Given the description of an element on the screen output the (x, y) to click on. 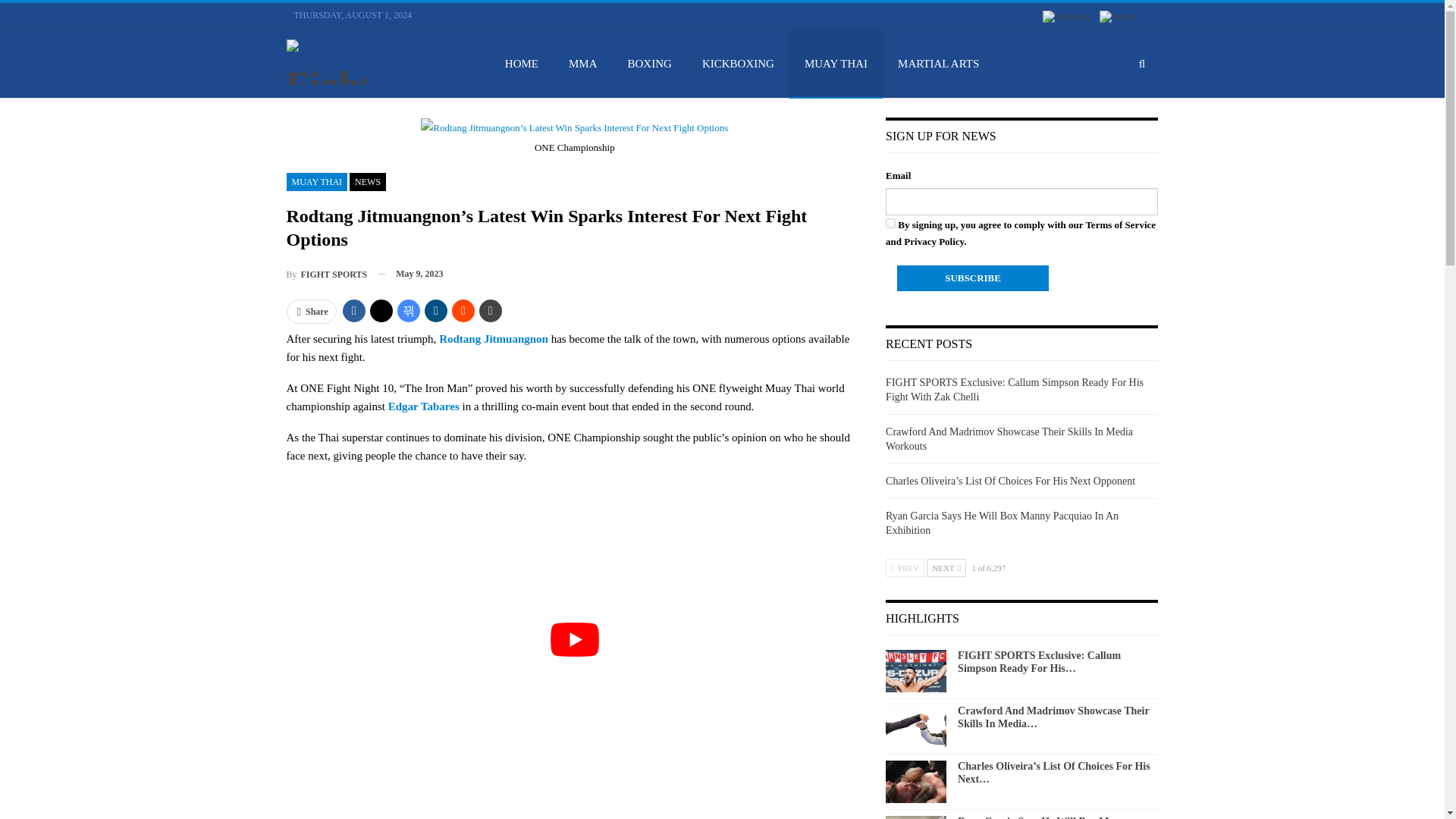
BOXING (649, 63)
KICKBOXING (738, 63)
HOME (521, 63)
facebook (1066, 16)
twitter (1118, 16)
on (890, 223)
twitter (1117, 15)
facebook (1067, 15)
Subscribe (972, 278)
